Given the description of an element on the screen output the (x, y) to click on. 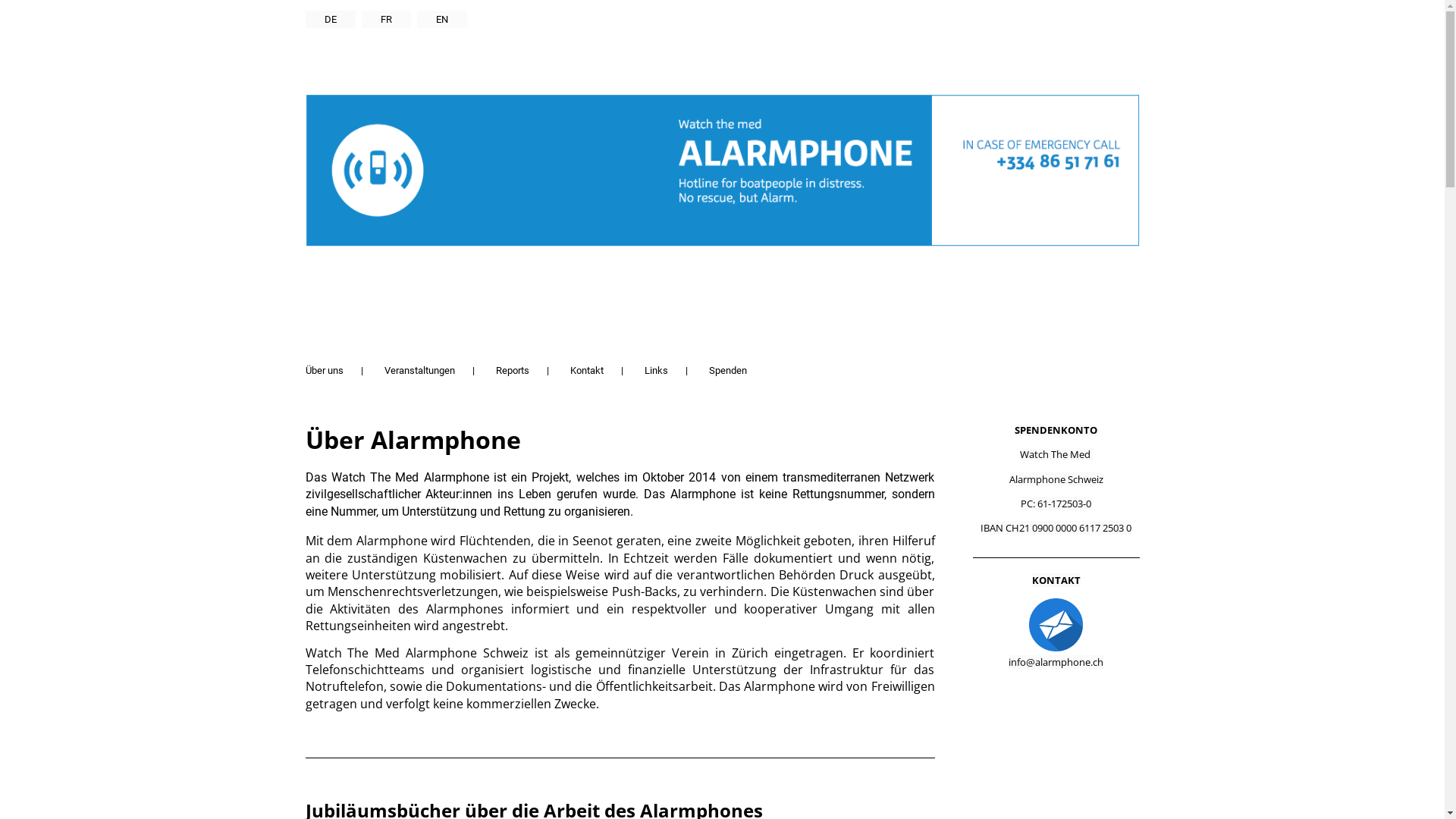
Veranstaltungen Element type: text (418, 370)
Spenden Element type: text (727, 370)
EN Element type: text (442, 19)
Reports Element type: text (512, 370)
Links Element type: text (656, 370)
DE Element type: text (329, 19)
FR Element type: text (385, 19)
Kontakt Element type: text (586, 370)
